Given the description of an element on the screen output the (x, y) to click on. 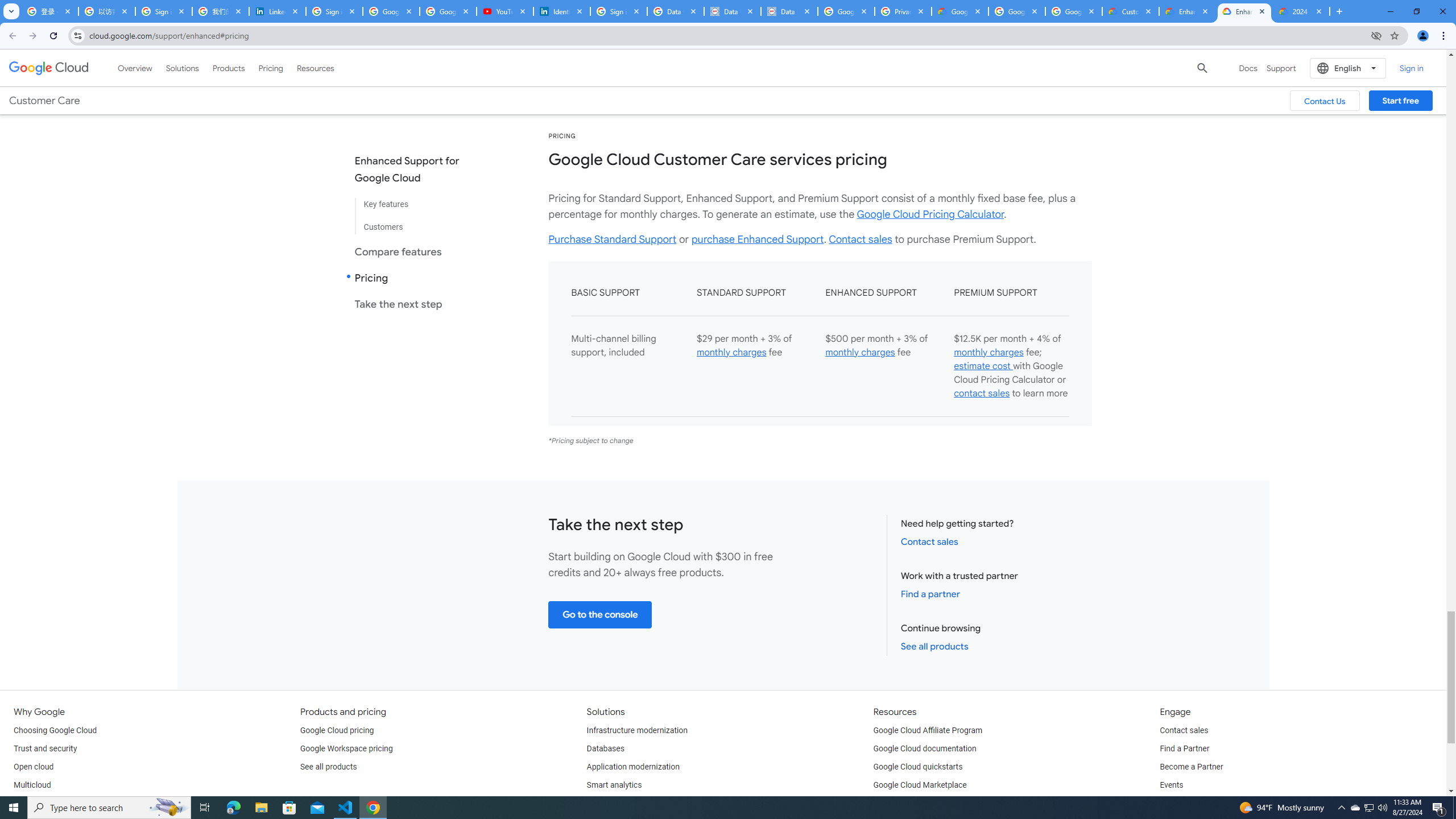
Google Workspace pricing (346, 748)
Media CDN (992, 66)
Google Cloud Affiliate Program (927, 730)
Google Cloud Terms Directory | Google Cloud (959, 11)
Enhanced Support | Google Cloud (1187, 11)
Sign in - Google Accounts (163, 11)
Google Cloud quickstarts (917, 766)
Take the next step (416, 303)
Global infrastructure (49, 802)
Contact sales (1183, 730)
